Given the description of an element on the screen output the (x, y) to click on. 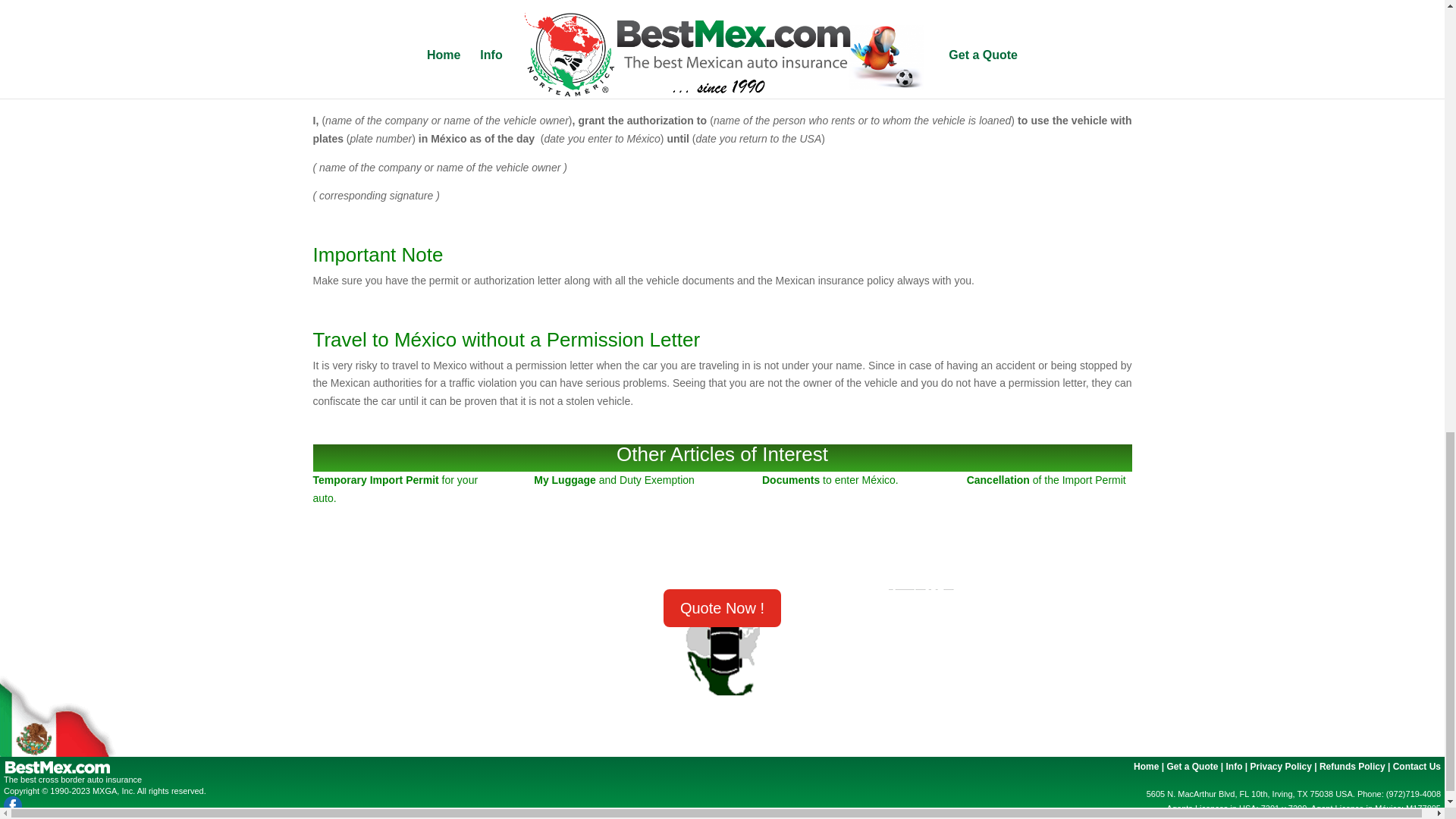
Refunds Policy (1352, 766)
Quote Now ! (721, 607)
Info (1233, 766)
Contact Us (1417, 766)
My Luggage and Duty Exemption (614, 480)
mxga.com (339, 309)
Temporary Import Permit for your auto. (395, 489)
Privacy Policy (1280, 766)
Home (1146, 766)
Get a Quote (1191, 766)
